Given the description of an element on the screen output the (x, y) to click on. 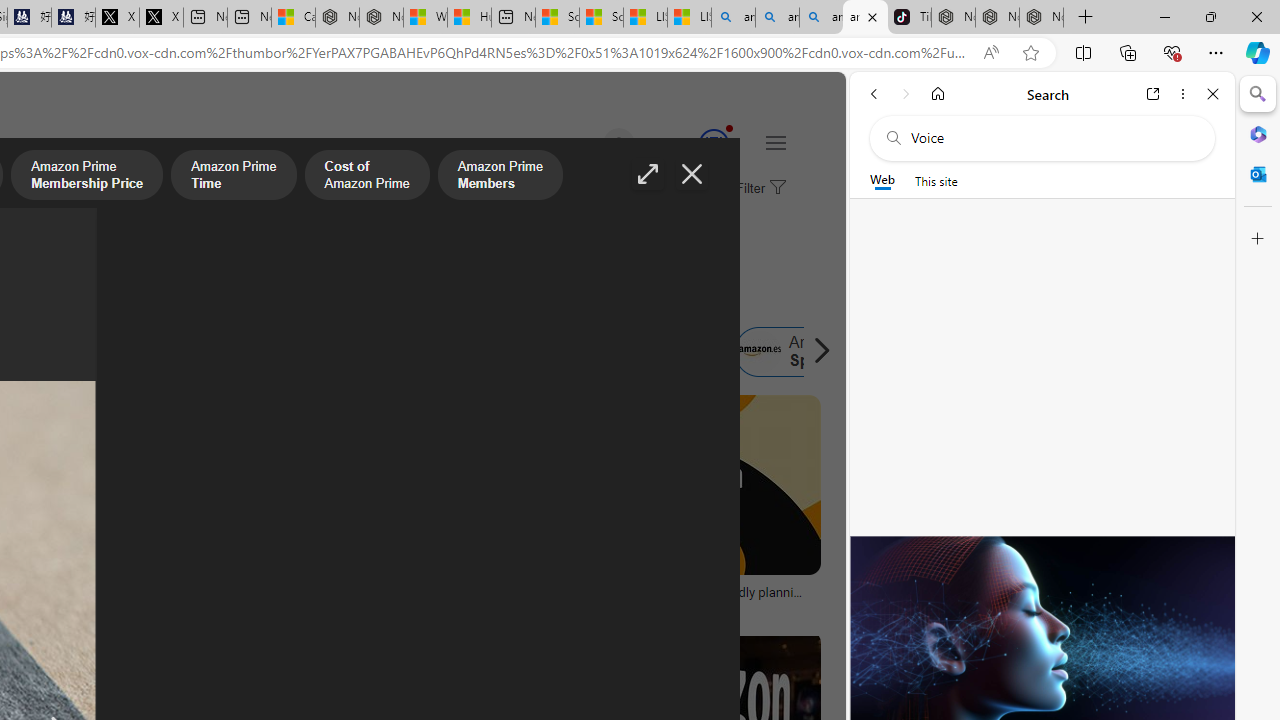
Search (1258, 94)
Class: item col (801, 351)
Amazon Prime Members (500, 177)
Home (938, 93)
theverge.com (599, 605)
Amazon Spain (800, 351)
Full screen (648, 173)
Wildlife - MSN (425, 17)
Customize (1258, 239)
Forward (906, 93)
